Given the description of an element on the screen output the (x, y) to click on. 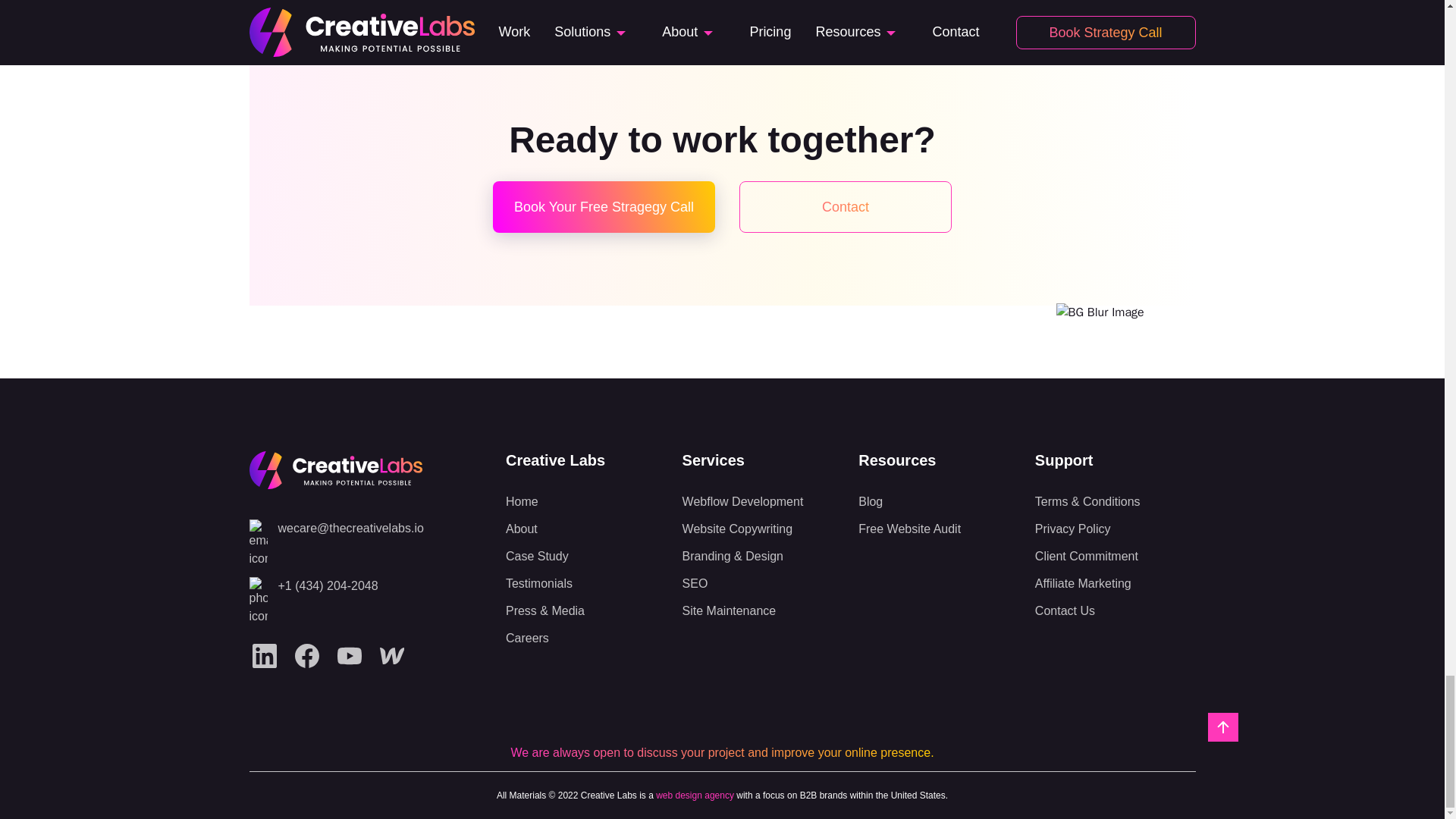
Webflow Account Link (390, 655)
Connect on Youtube (348, 655)
Connect on Facebook (306, 655)
About (585, 528)
Webflow Development (762, 501)
Connect on Facebook (306, 655)
Connect on Linked In (263, 655)
Webflow Account Link (390, 655)
Case Study (585, 556)
Testimonials (585, 583)
Connect on Youtube (348, 655)
Website Copywriting (762, 528)
Connect on Linked In (263, 655)
Contact (845, 206)
Careers (585, 637)
